Given the description of an element on the screen output the (x, y) to click on. 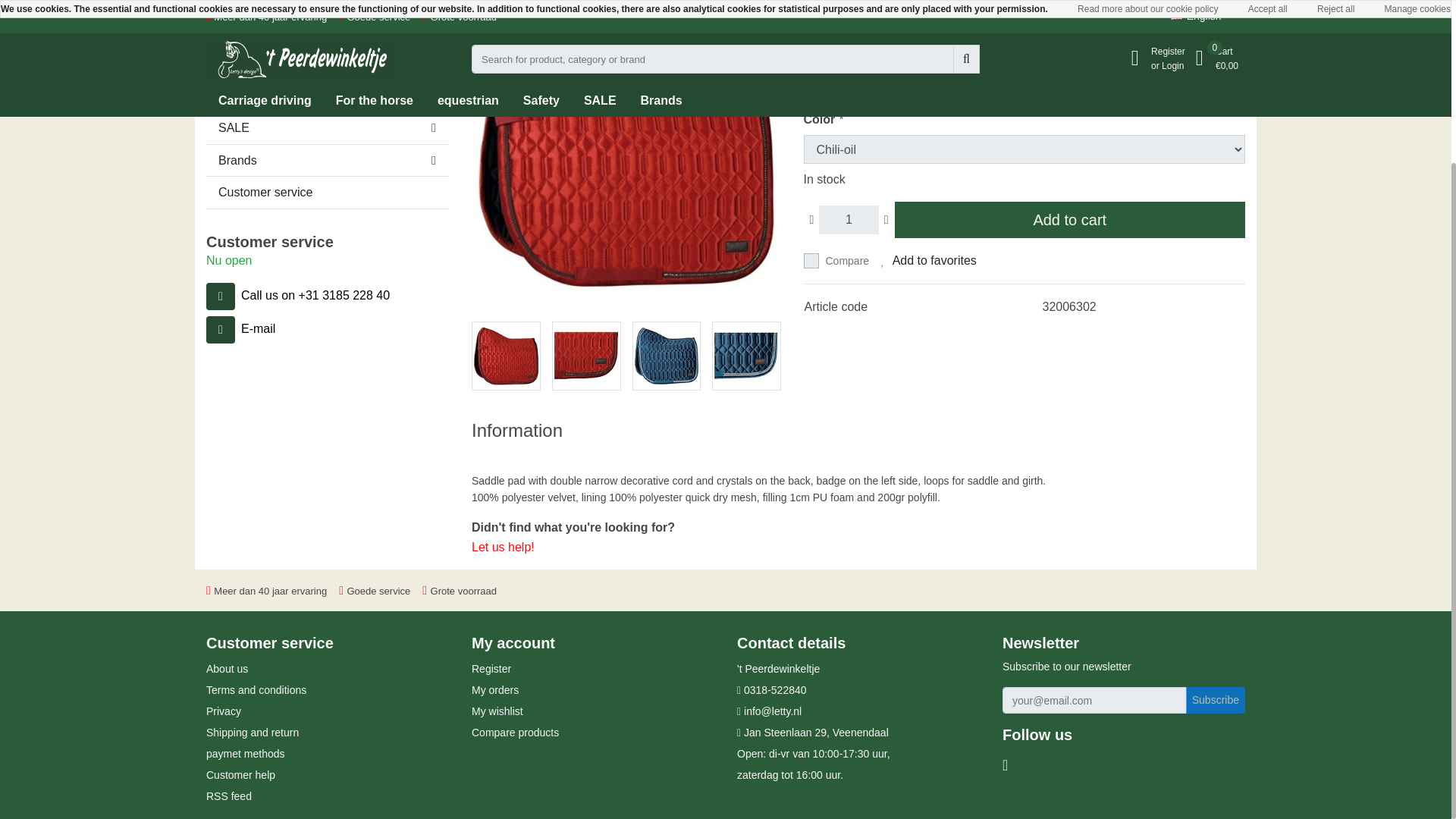
1 (847, 219)
